Given the description of an element on the screen output the (x, y) to click on. 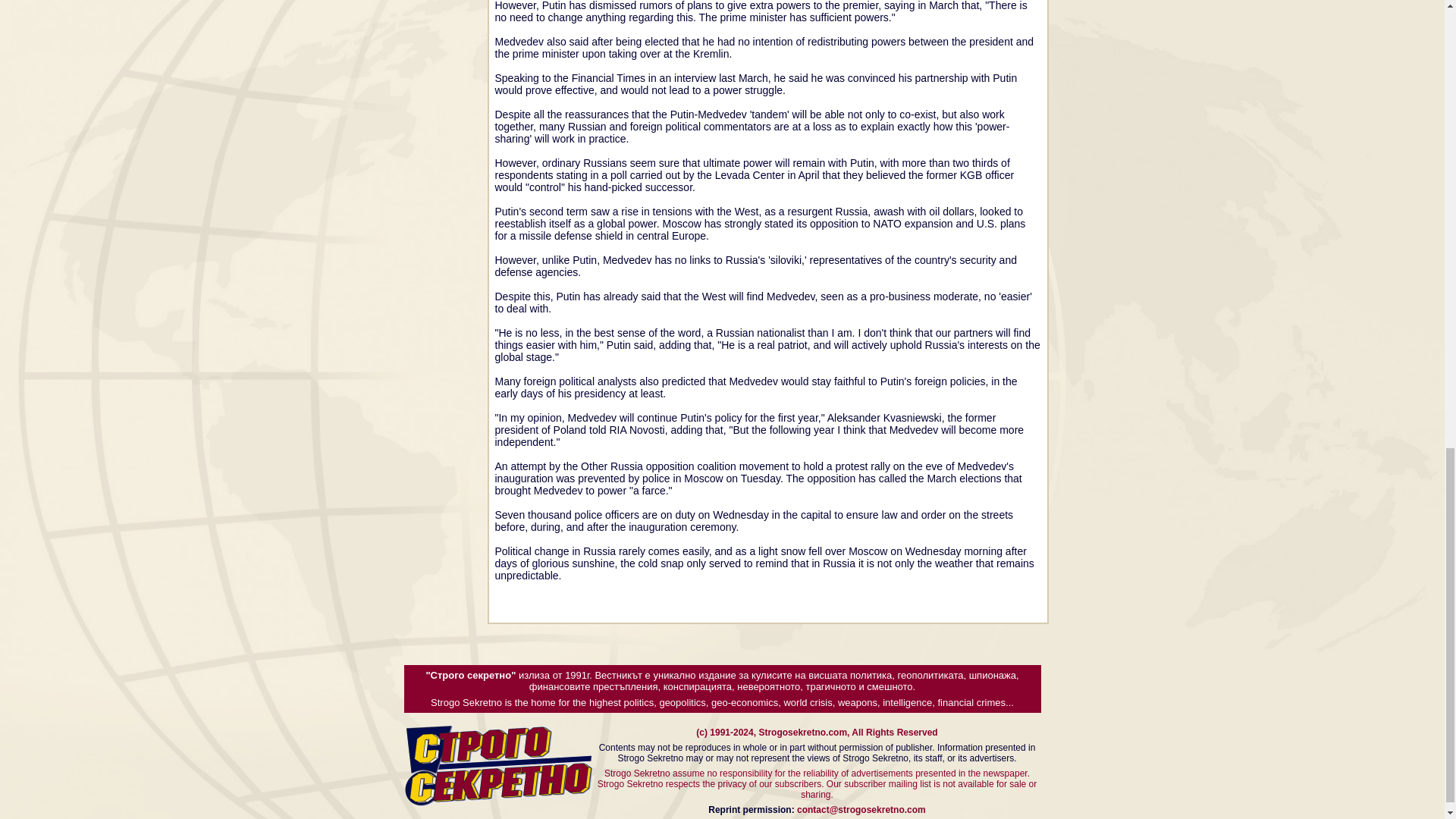
Advertisement (1174, 58)
Advertisement (413, 49)
